Given the description of an element on the screen output the (x, y) to click on. 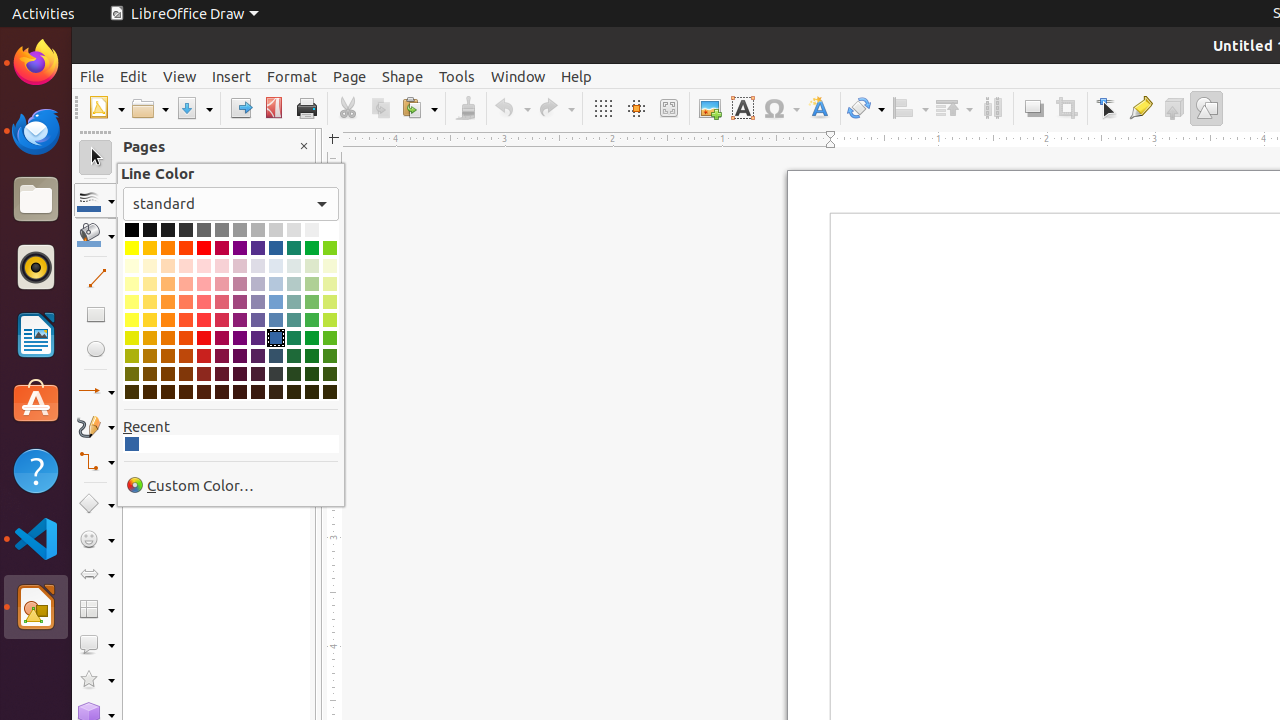
Dark Lime 2 Element type: list-item (330, 356)
Light Indigo 2 Element type: list-item (258, 302)
Gold Element type: list-item (150, 248)
Dark Teal 2 Element type: list-item (294, 356)
Dark Gold 1 Element type: list-item (150, 338)
